Given the description of an element on the screen output the (x, y) to click on. 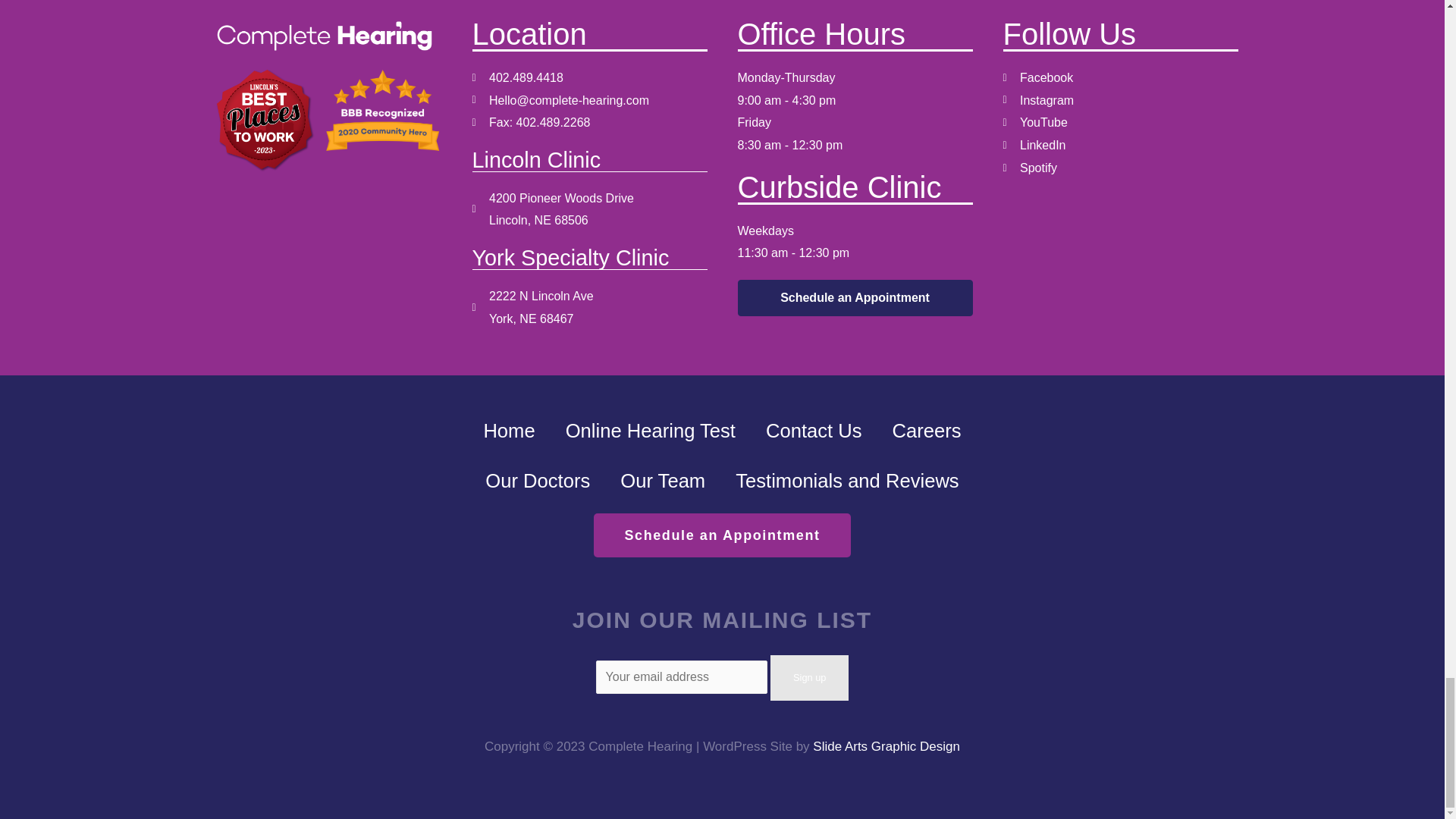
Sign up (809, 678)
